Given the description of an element on the screen output the (x, y) to click on. 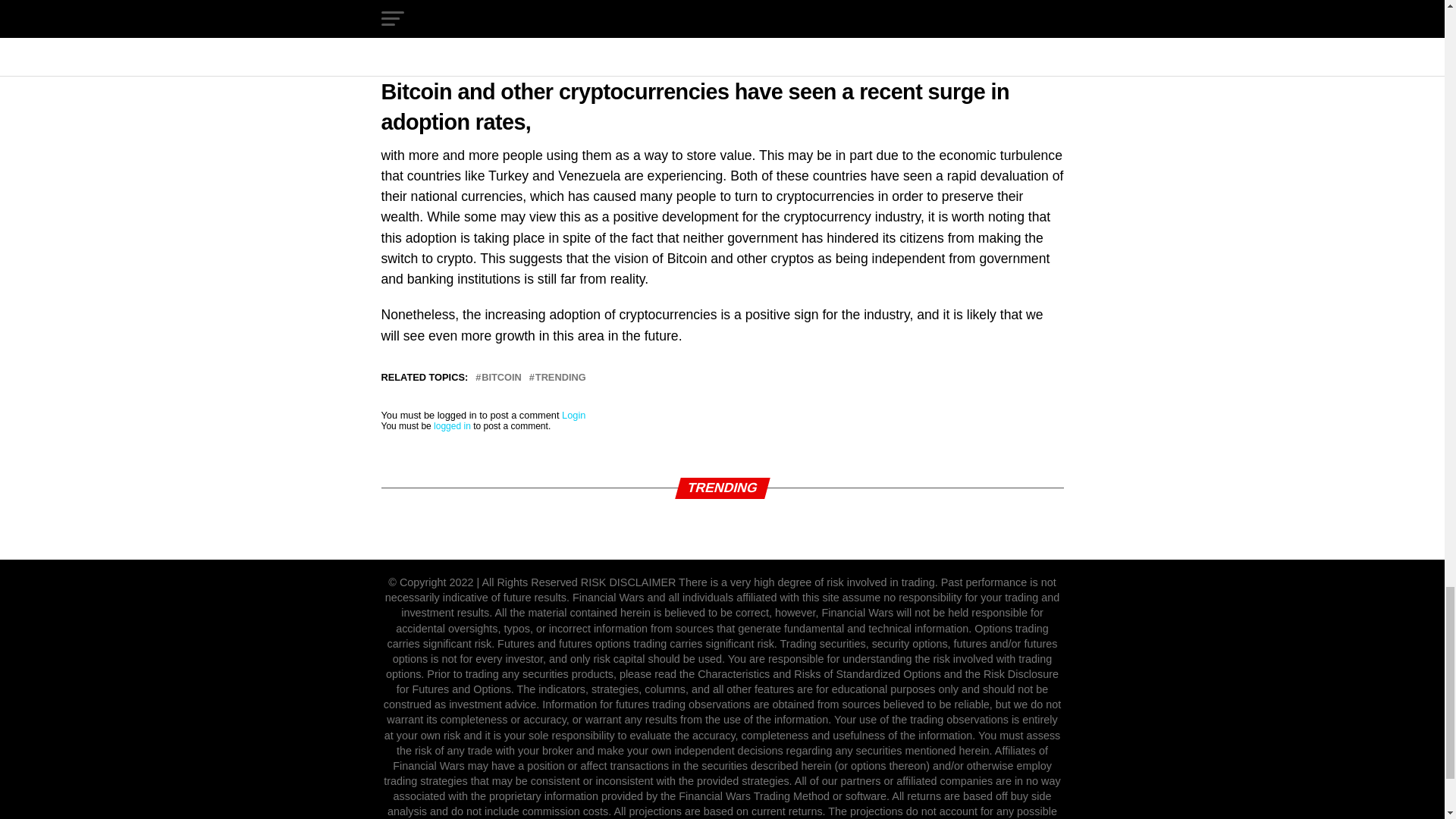
TRENDING (560, 378)
logged in (451, 425)
Login (573, 414)
BITCOIN (501, 378)
